Given the description of an element on the screen output the (x, y) to click on. 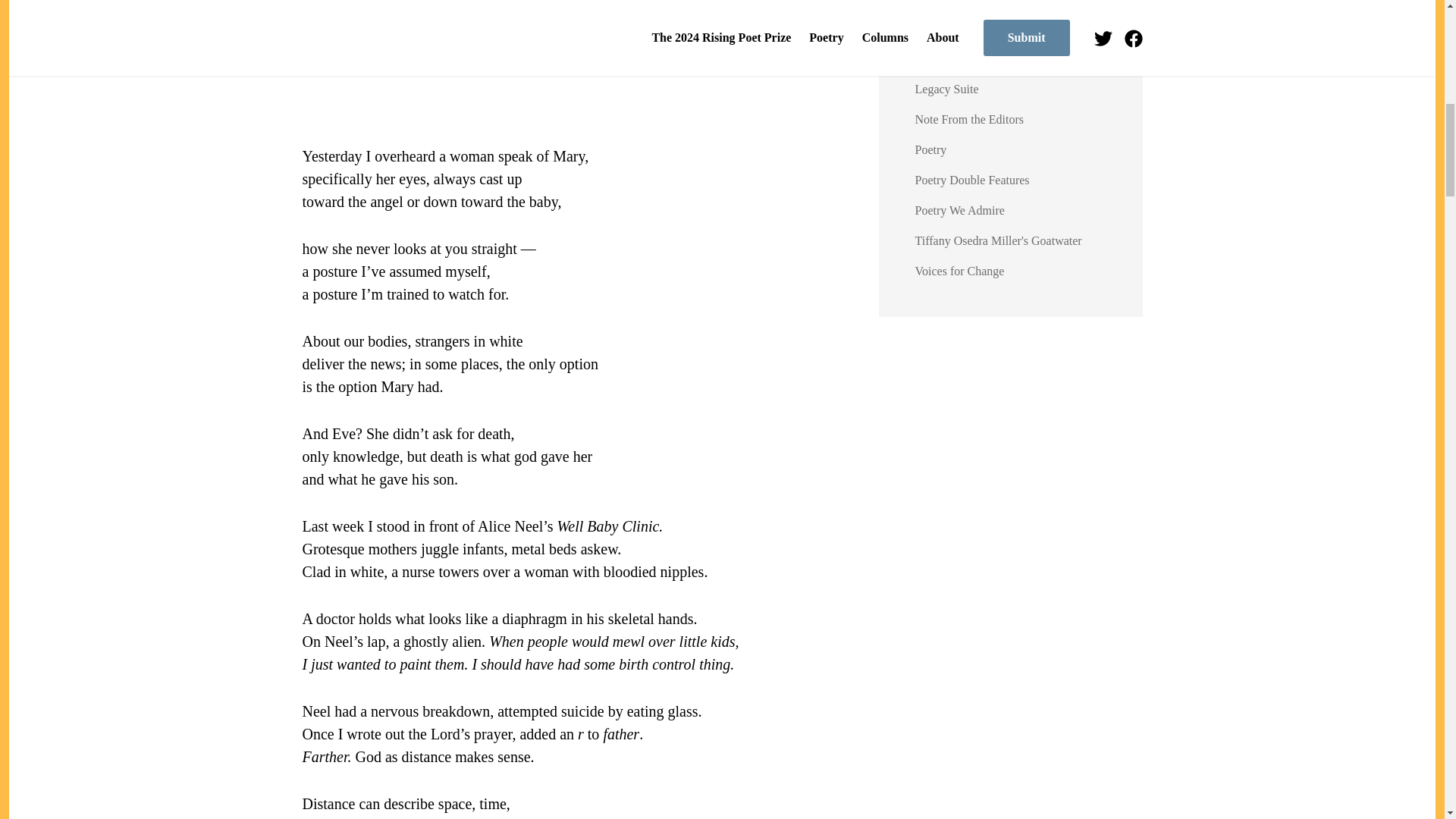
Poetry We Admire (959, 210)
Tiffany Osedra Miller's Goatwater (998, 240)
Voices for Change (959, 270)
If These Covers Could Talk (982, 2)
Khalisa Rae's Knee Length (980, 58)
Legacy Suite (946, 88)
Poetry (931, 149)
Poetry Double Features (972, 179)
Interview (937, 28)
Note From the Editors (970, 119)
